Given the description of an element on the screen output the (x, y) to click on. 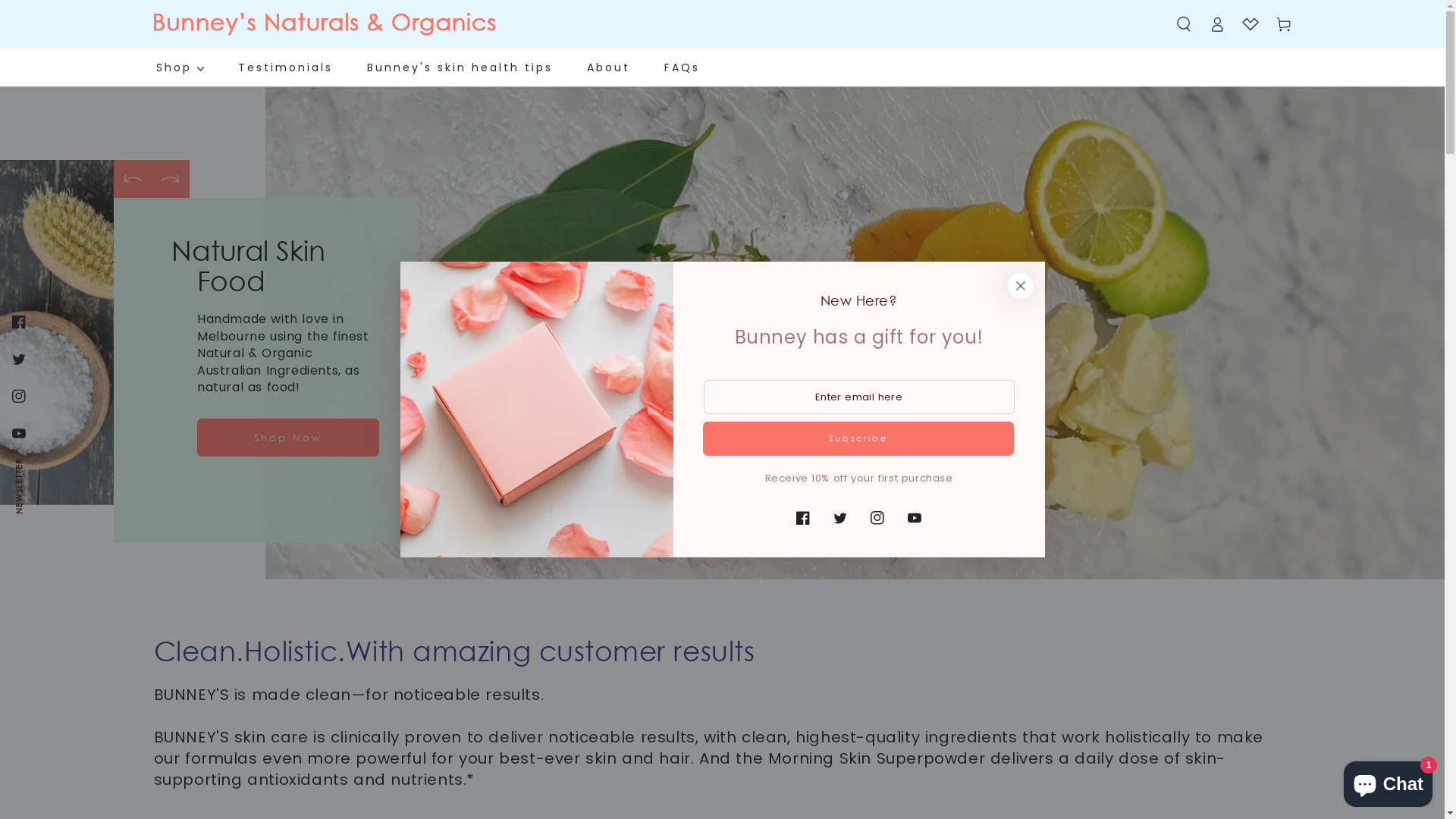
Log in Element type: text (1216, 23)
Bunney's skin health tips Element type: text (458, 66)
Twitter Element type: text (839, 517)
Instagram Element type: text (877, 517)
Twitter Element type: text (18, 359)
YouTube Element type: text (18, 433)
About Element type: text (607, 66)
Facebook Element type: text (802, 517)
Shop Now Element type: text (288, 437)
Shop Element type: text (179, 66)
Instagram Element type: text (18, 395)
Shopify online store chat Element type: hover (1388, 780)
Testimonials Element type: text (284, 66)
FAQs Element type: text (681, 66)
Facebook Element type: text (18, 321)
YouTube Element type: text (914, 517)
Subscribe Element type: text (857, 438)
